Given the description of an element on the screen output the (x, y) to click on. 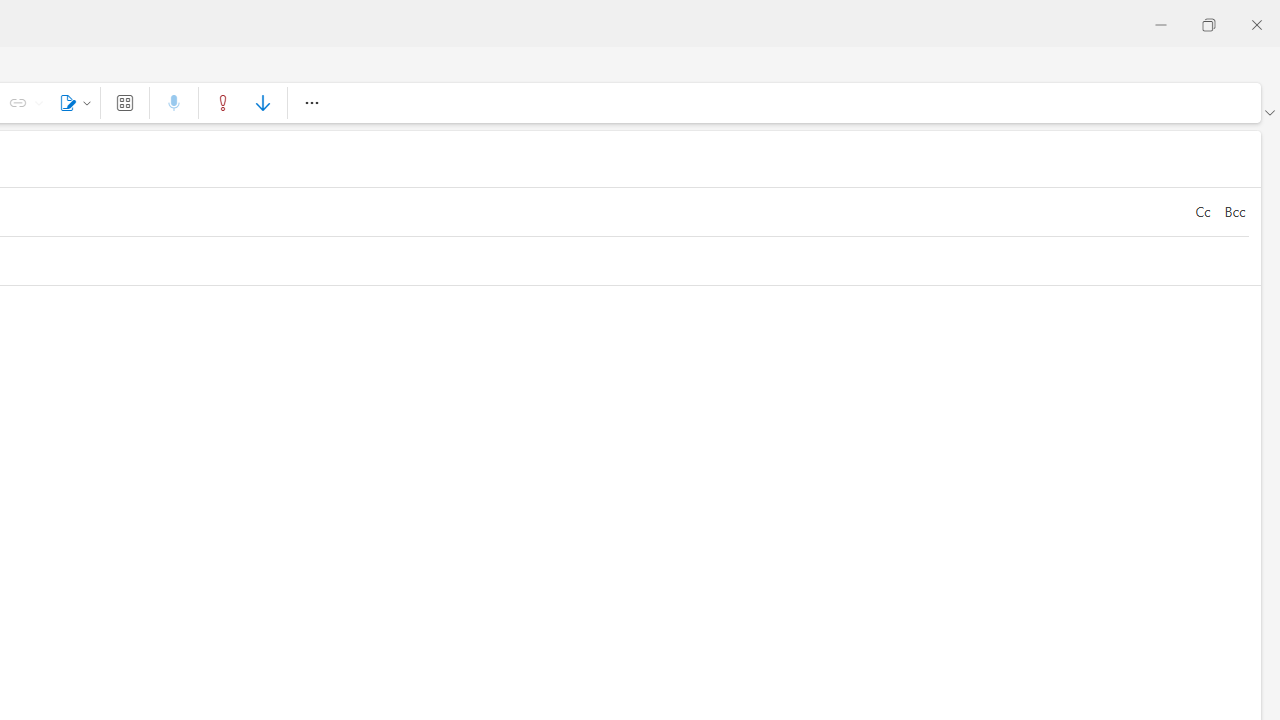
Apps (124, 102)
Link (38, 102)
Bcc (1234, 211)
More options (311, 102)
Signature (71, 102)
Dictate (173, 102)
Ribbon display options (1269, 112)
High importance (223, 102)
Cc (1202, 211)
Low importance (262, 102)
